Given the description of an element on the screen output the (x, y) to click on. 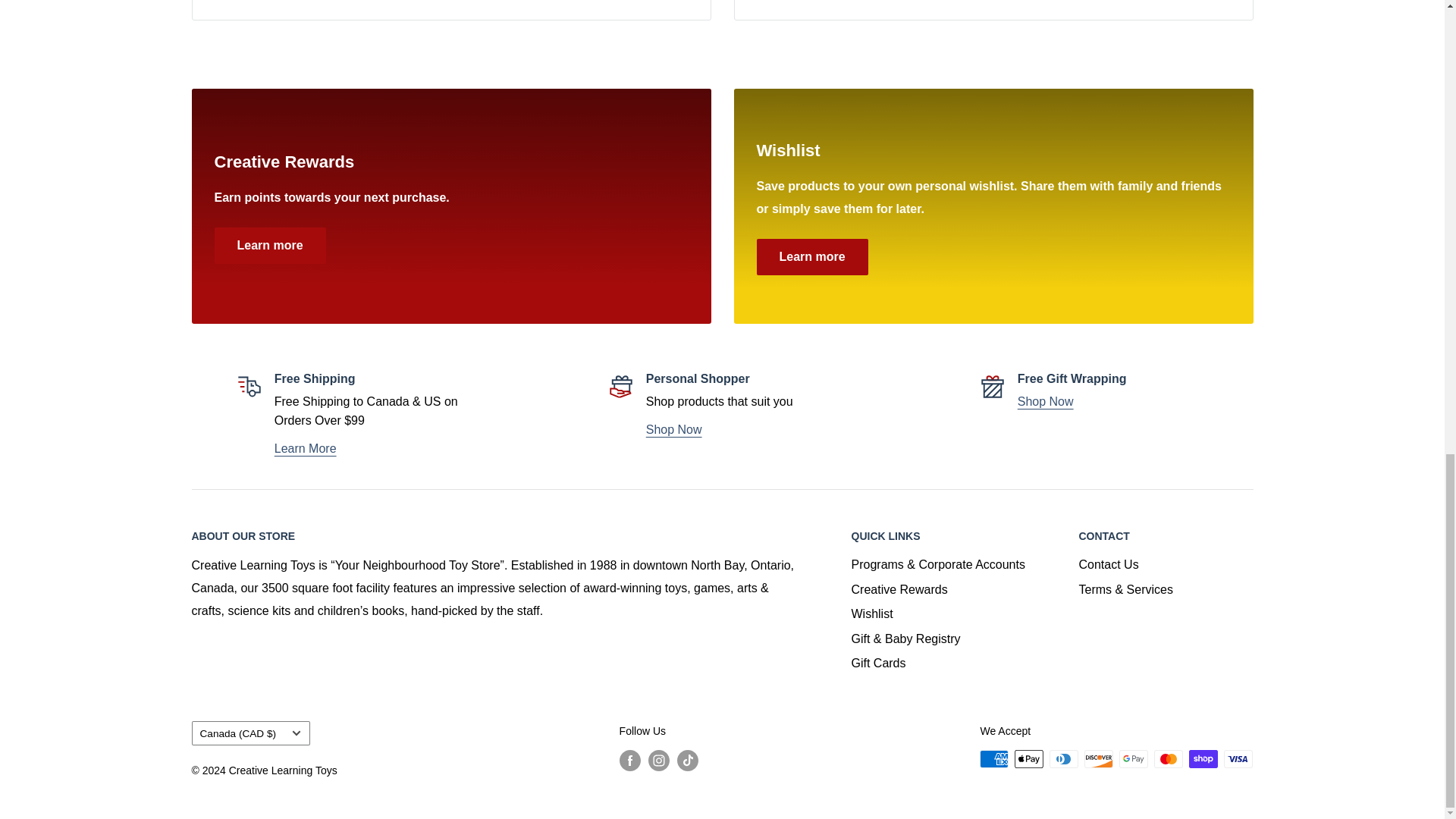
Personal Shopper (1045, 400)
Personal Shopper (673, 429)
